Given the description of an element on the screen output the (x, y) to click on. 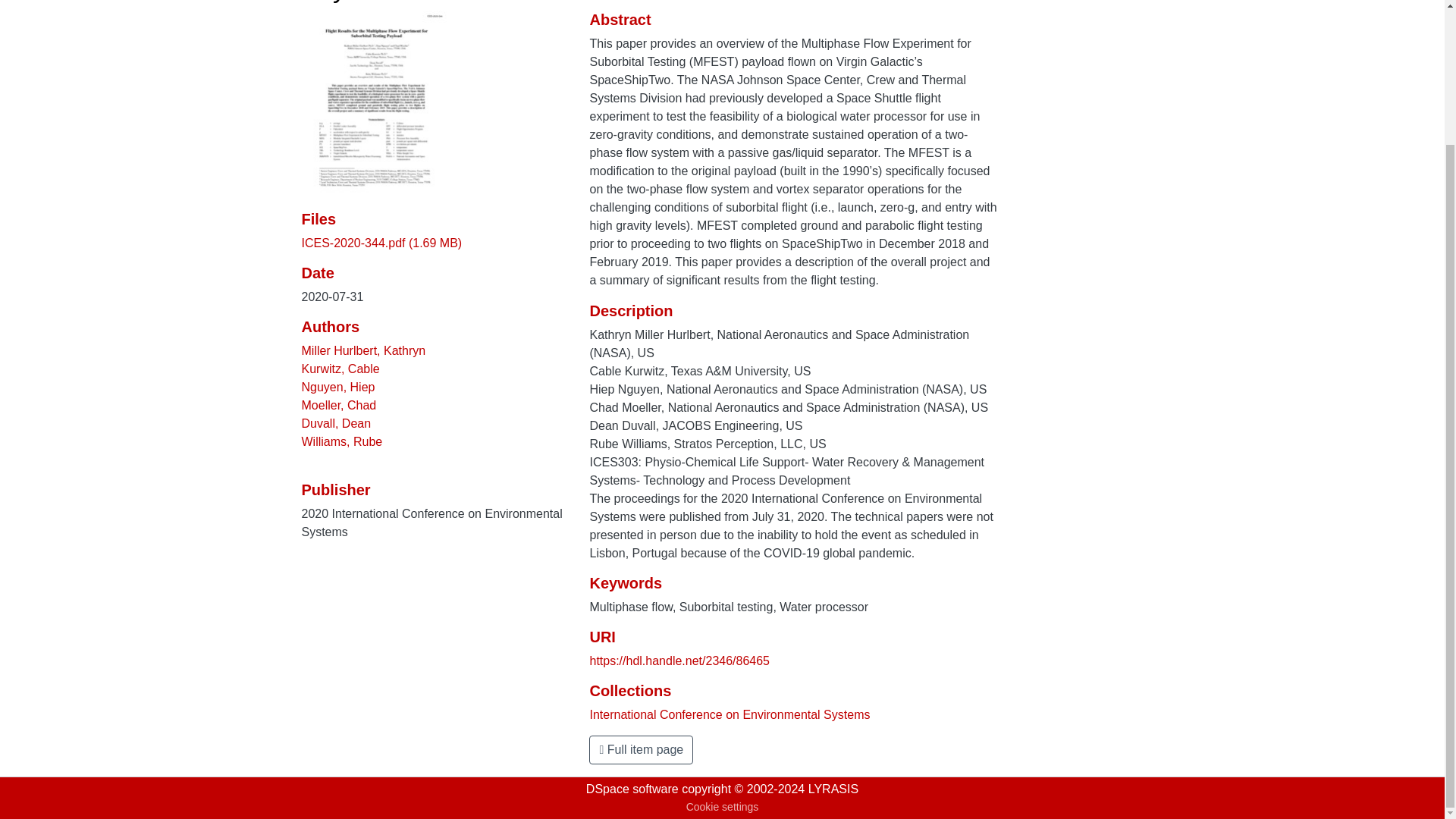
DSpace software (632, 788)
Duvall, Dean (336, 422)
Miller Hurlbert, Kathryn (363, 350)
Moeller, Chad (339, 404)
Williams, Rube (341, 440)
Cookie settings (722, 806)
International Conference on Environmental Systems (729, 714)
LYRASIS (833, 788)
Nguyen, Hiep (338, 386)
Full item page (641, 749)
